Given the description of an element on the screen output the (x, y) to click on. 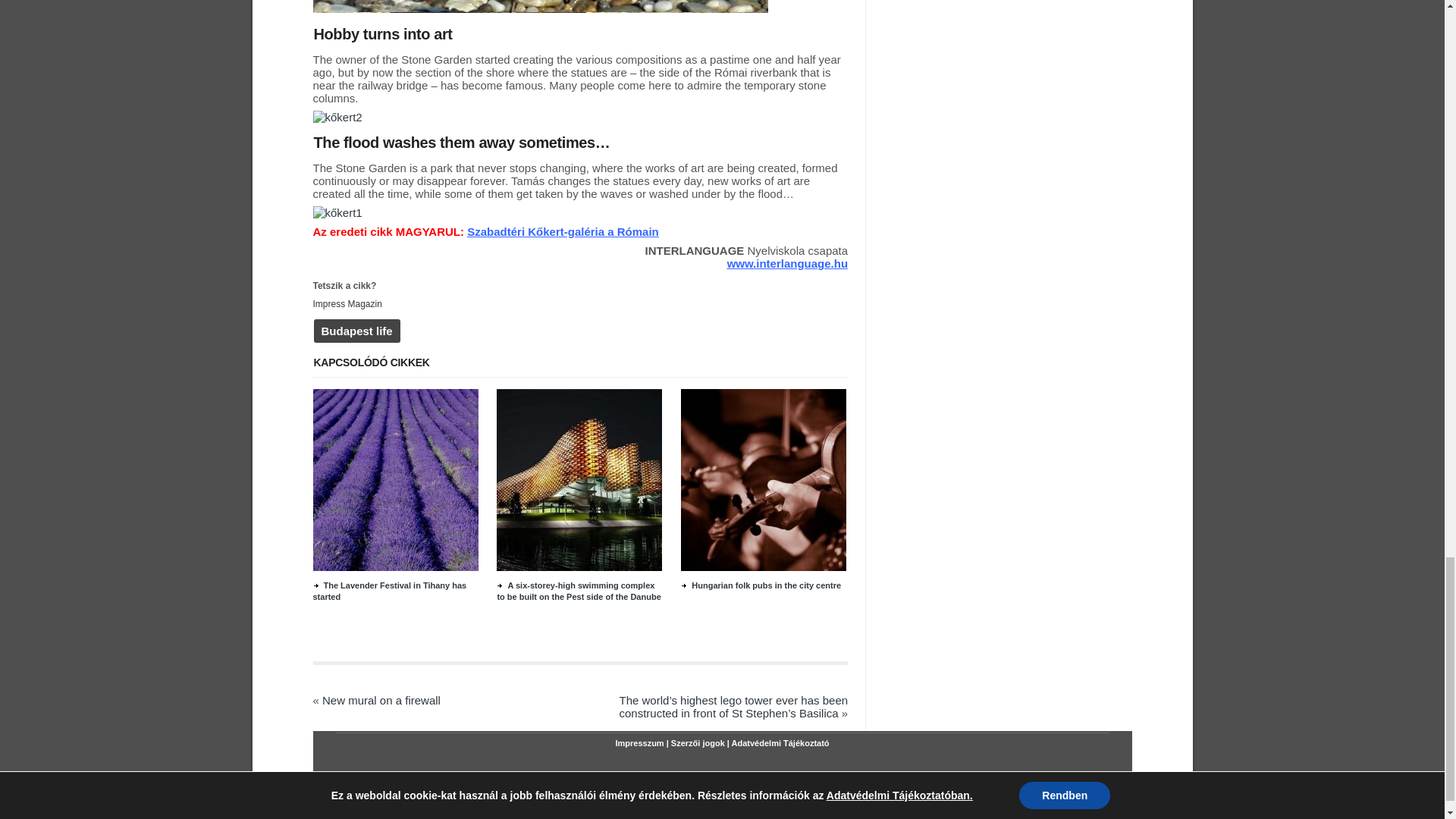
Budapest life (357, 331)
The Lavender Festival in Tihany has started (389, 590)
www.interlanguage.hu (786, 263)
New mural on a firewall (381, 699)
The Lavender Festival in Tihany has started (395, 567)
The Lavender Festival in Tihany has started (389, 590)
Hungarian folk pubs in the city centre (761, 584)
Impress Magazin (347, 303)
Hungarian folk pubs in the city centre (763, 567)
Hungarian folk pubs in the city centre (761, 584)
